Given the description of an element on the screen output the (x, y) to click on. 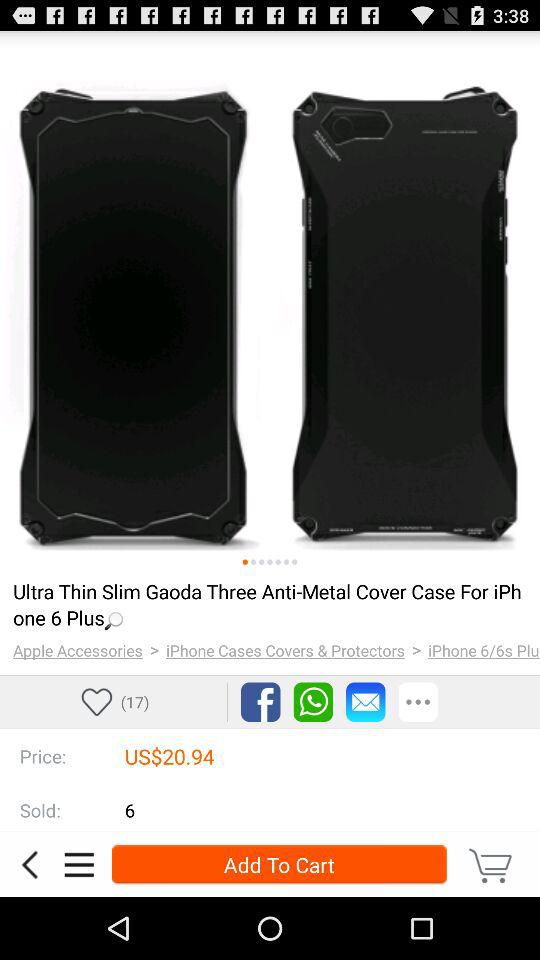
turn off item to the right of the > (285, 650)
